Given the description of an element on the screen output the (x, y) to click on. 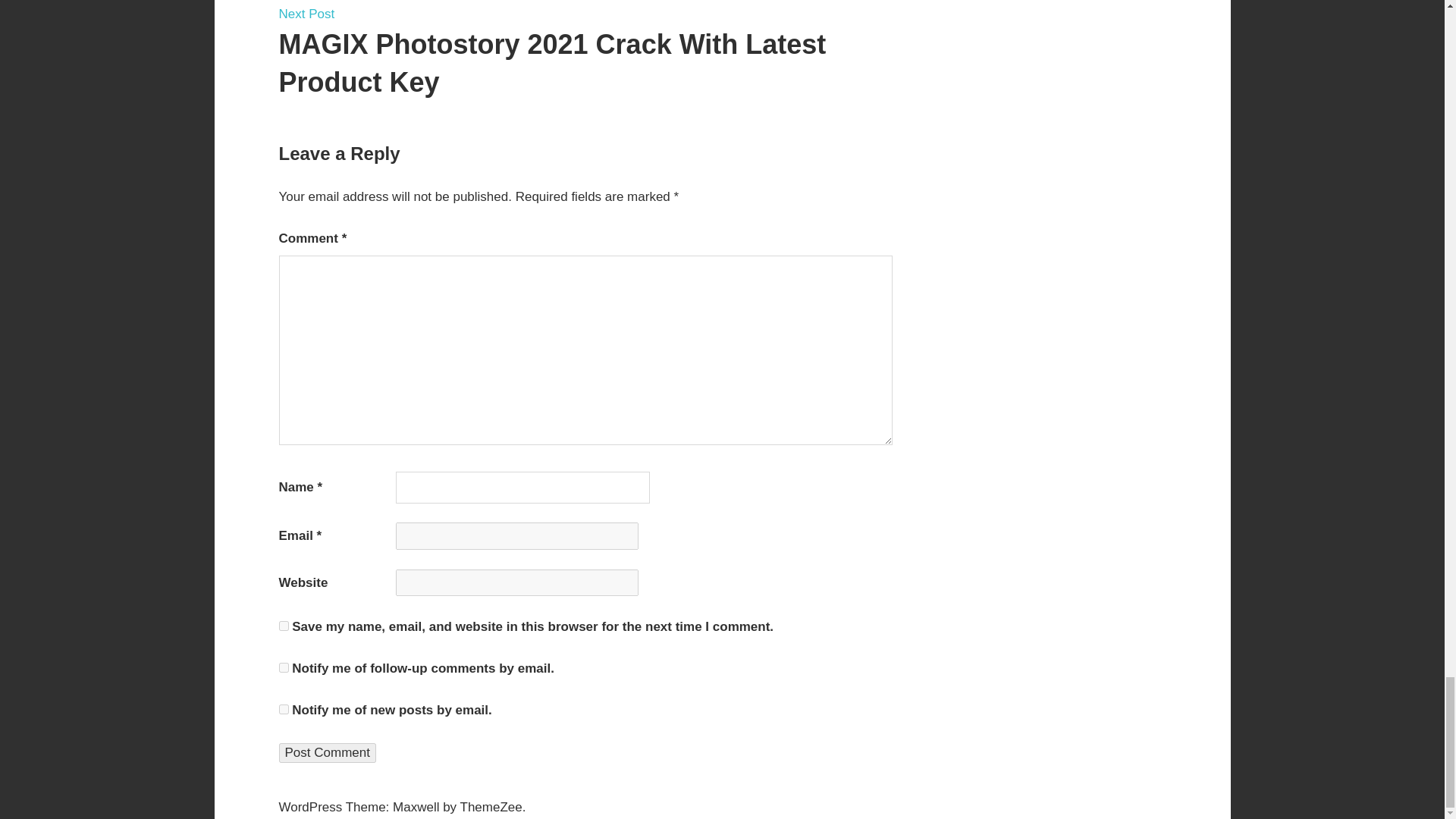
Post Comment (327, 752)
yes (283, 625)
Post Comment (327, 752)
subscribe (283, 709)
subscribe (283, 667)
